Given the description of an element on the screen output the (x, y) to click on. 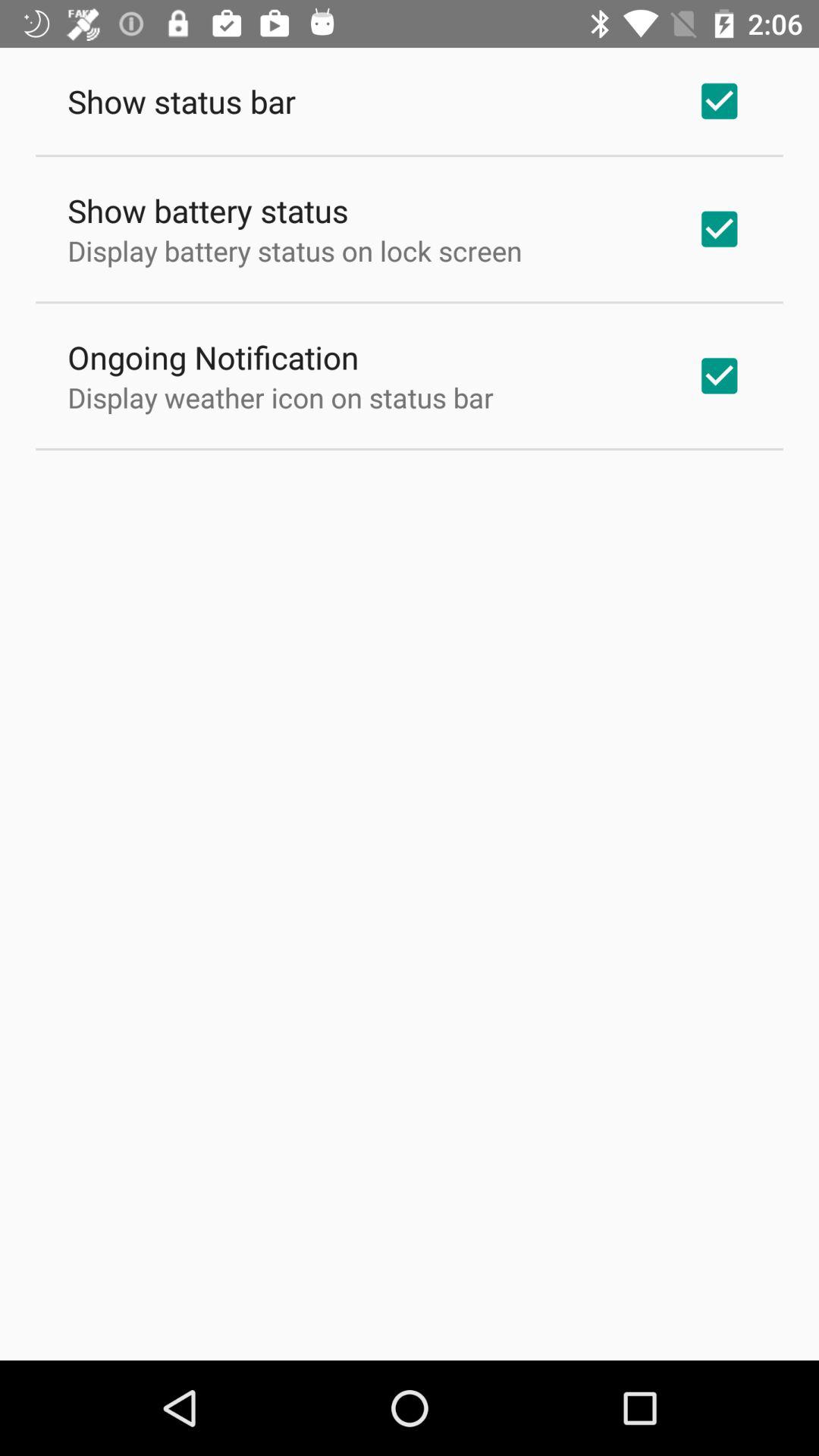
turn off item below the ongoing notification icon (280, 397)
